Given the description of an element on the screen output the (x, y) to click on. 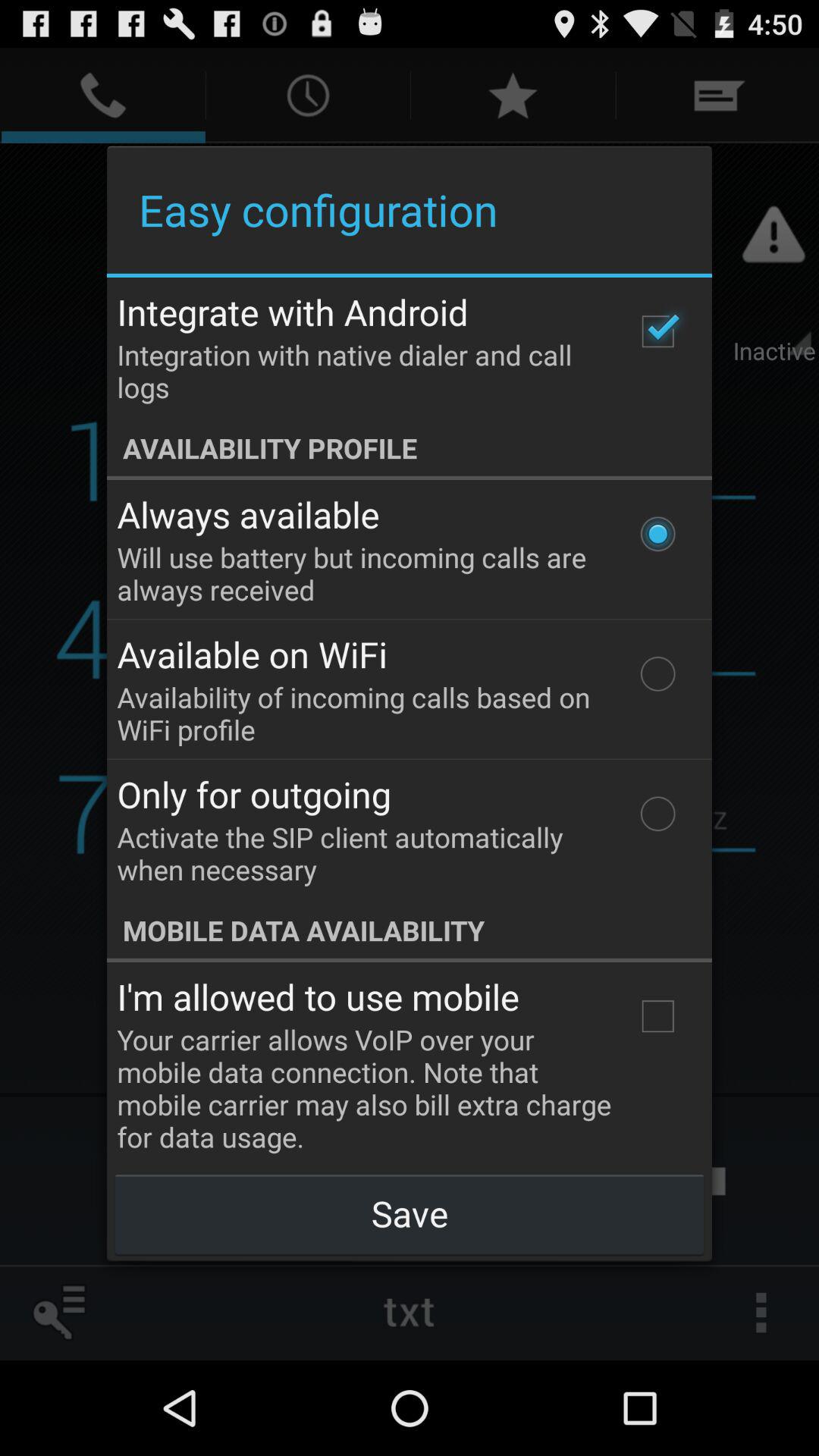
turn off item above the availability profile (657, 331)
